Given the description of an element on the screen output the (x, y) to click on. 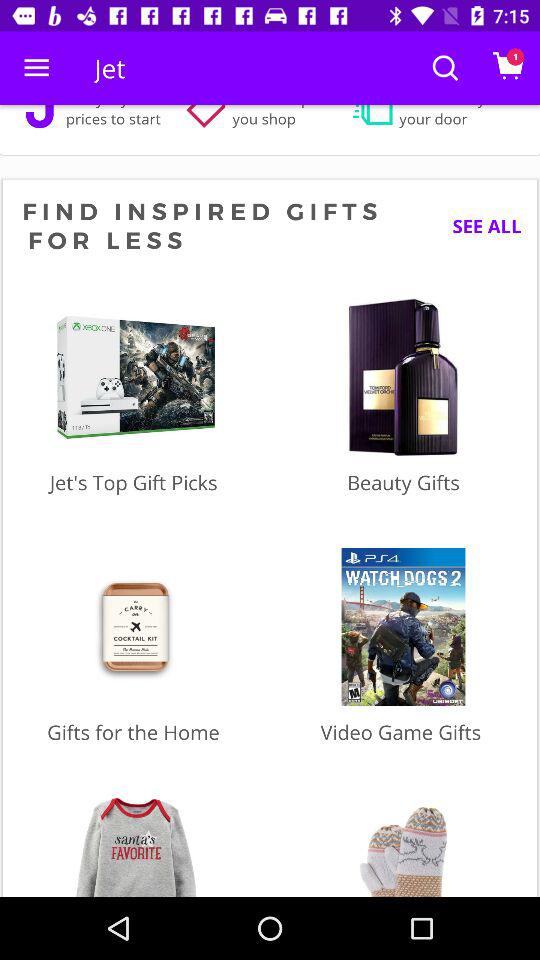
tap the see all item (479, 225)
